Given the description of an element on the screen output the (x, y) to click on. 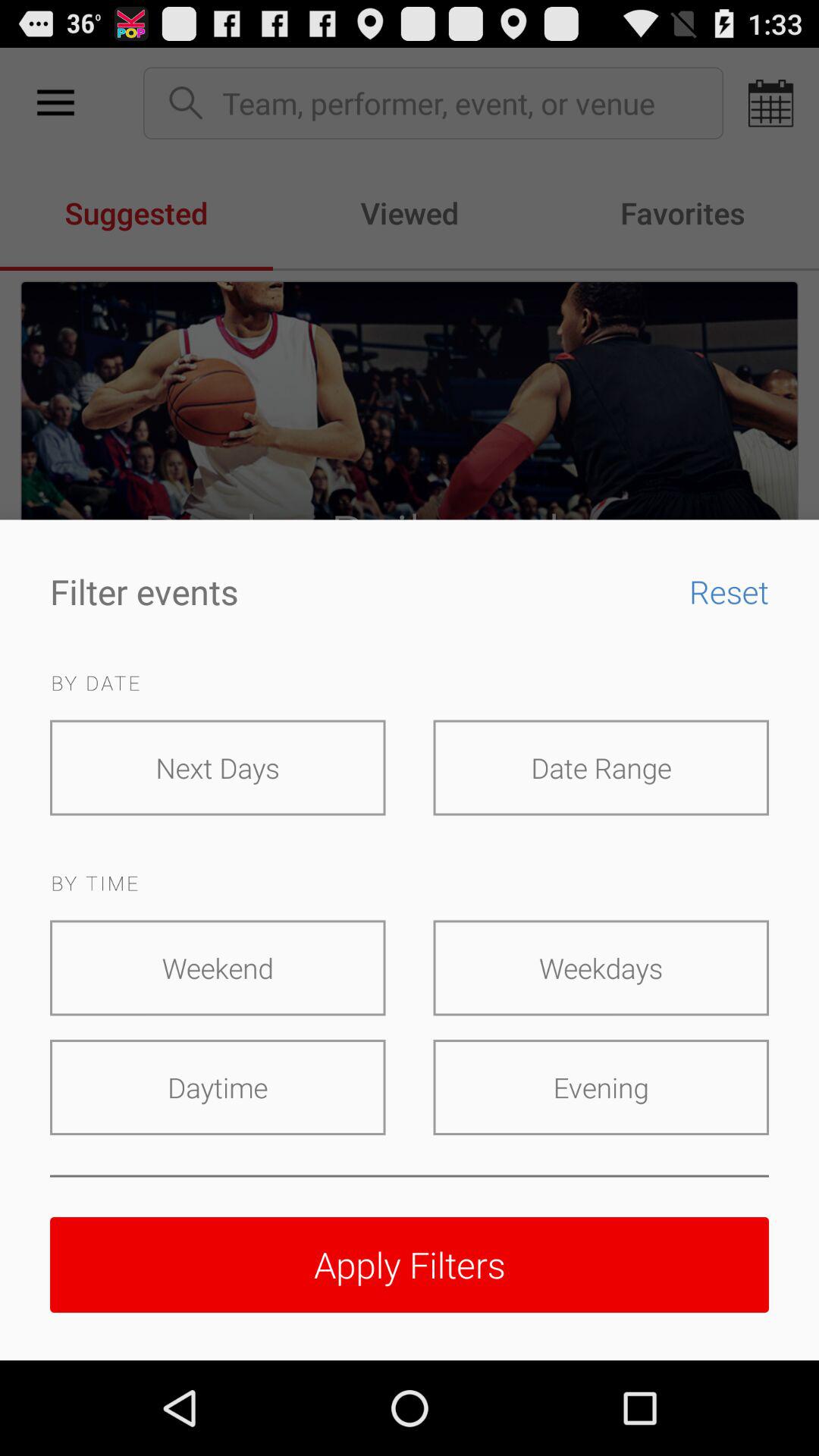
launch icon to the right of the weekend (600, 967)
